Given the description of an element on the screen output the (x, y) to click on. 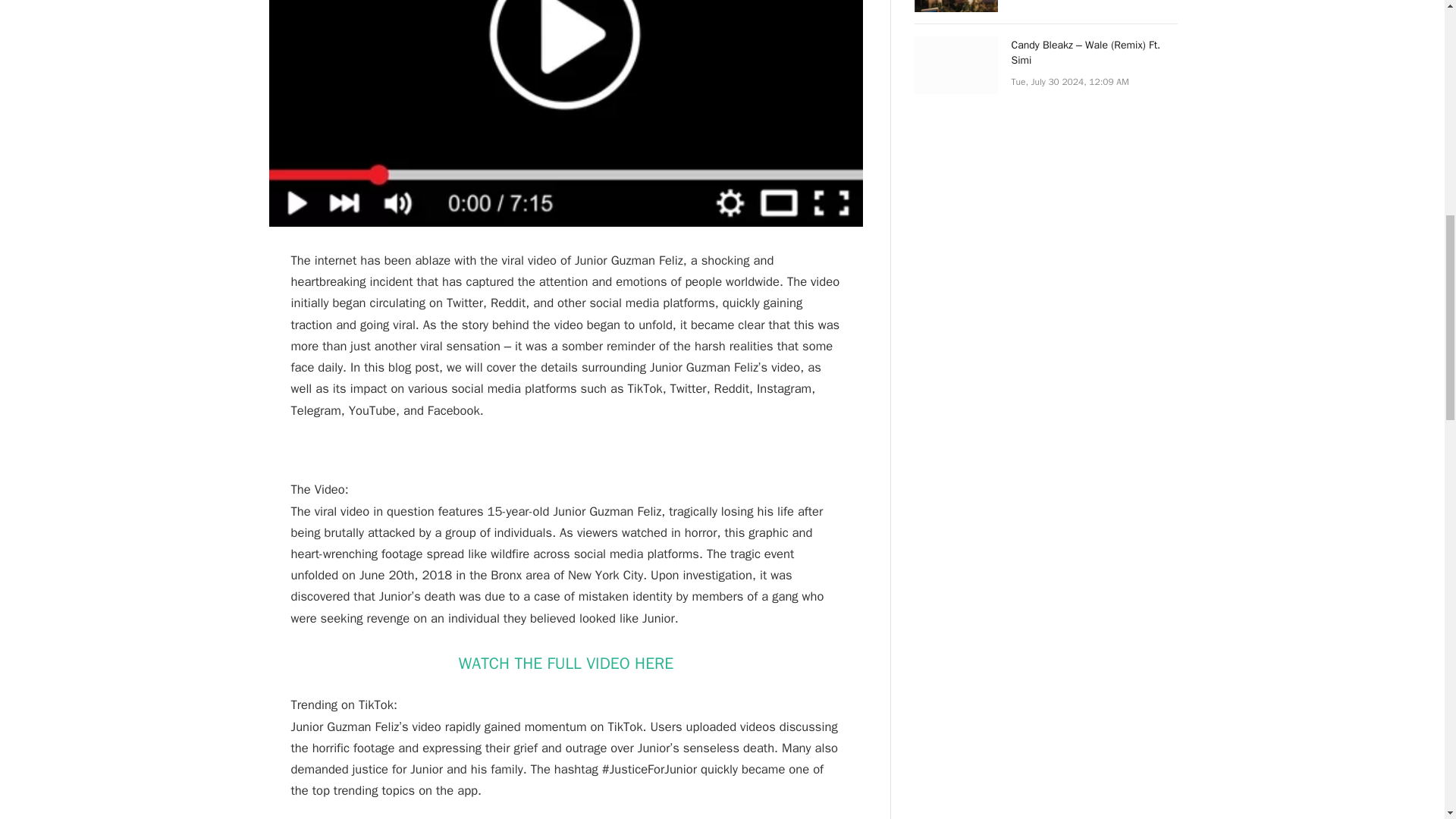
WATCH THE FULL VIDEO HERE (565, 662)
